Given the description of an element on the screen output the (x, y) to click on. 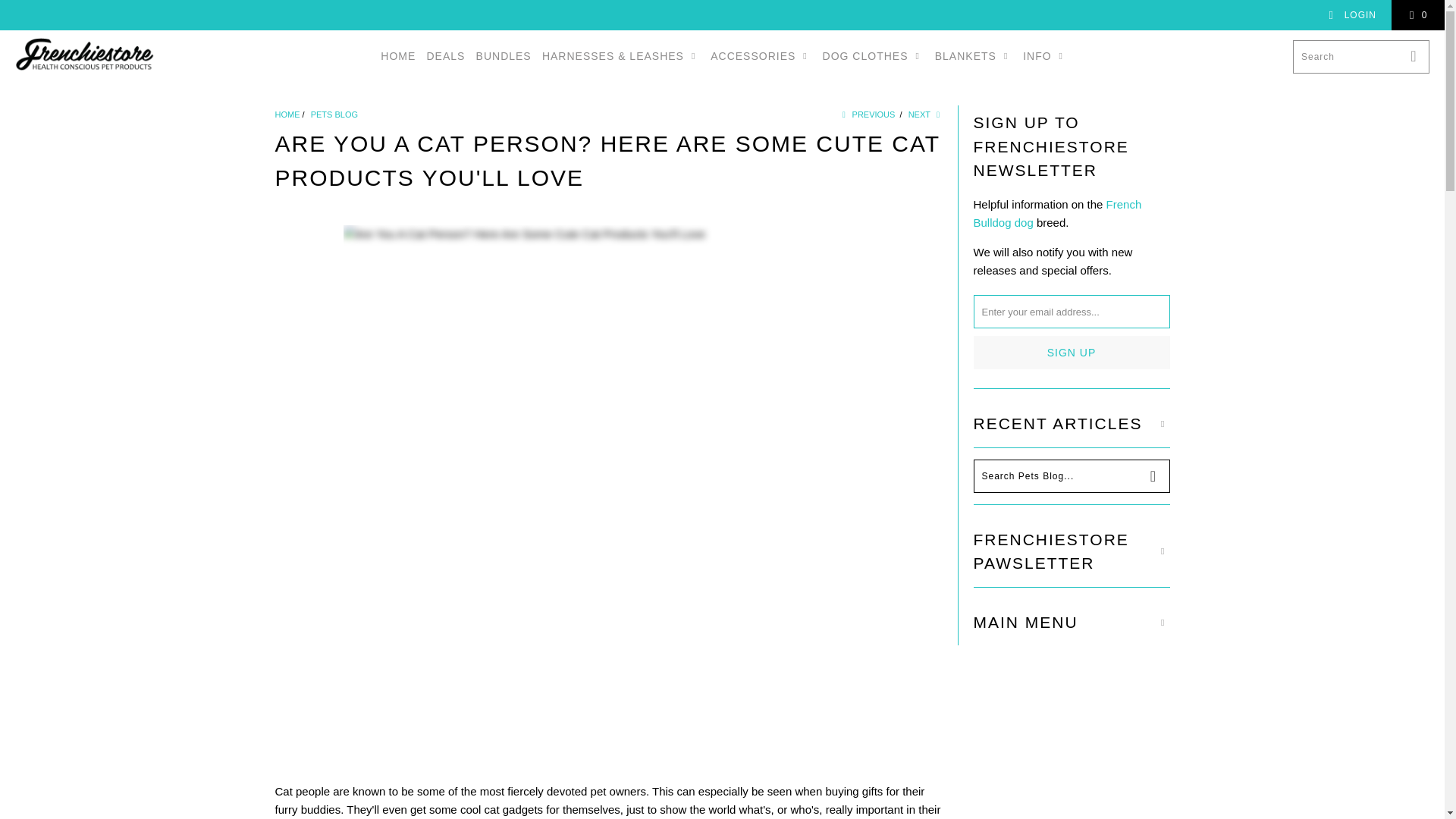
Pets Blog (334, 113)
Frenchiestore (84, 56)
Frenchiestore (287, 113)
Sign Up (1072, 352)
My Account  (1351, 15)
